Given the description of an element on the screen output the (x, y) to click on. 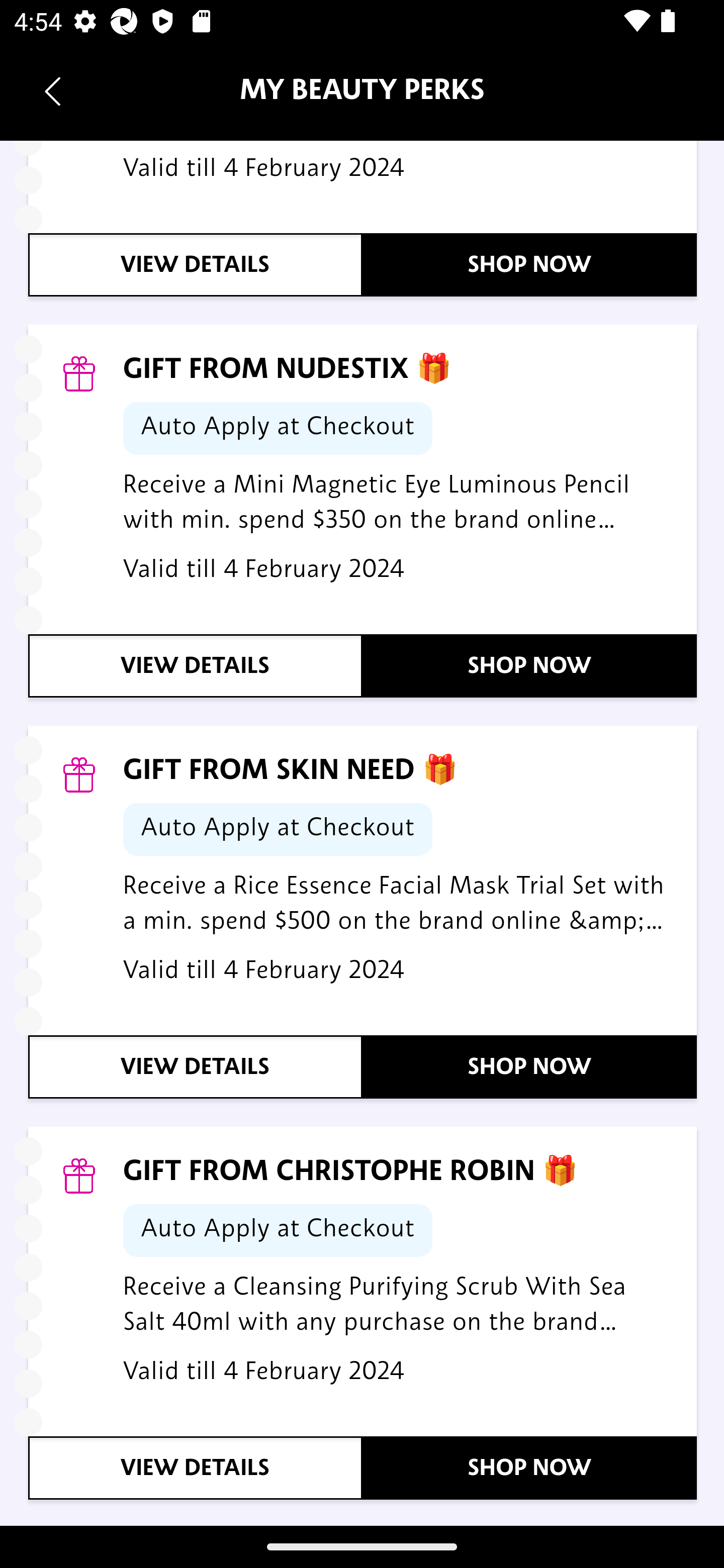
VIEW DETAILS (196, 265)
SHOP NOW (530, 265)
VIEW DETAILS (196, 666)
SHOP NOW (530, 666)
VIEW DETAILS (196, 1067)
SHOP NOW (530, 1067)
VIEW DETAILS (196, 1468)
SHOP NOW (530, 1468)
